Given the description of an element on the screen output the (x, y) to click on. 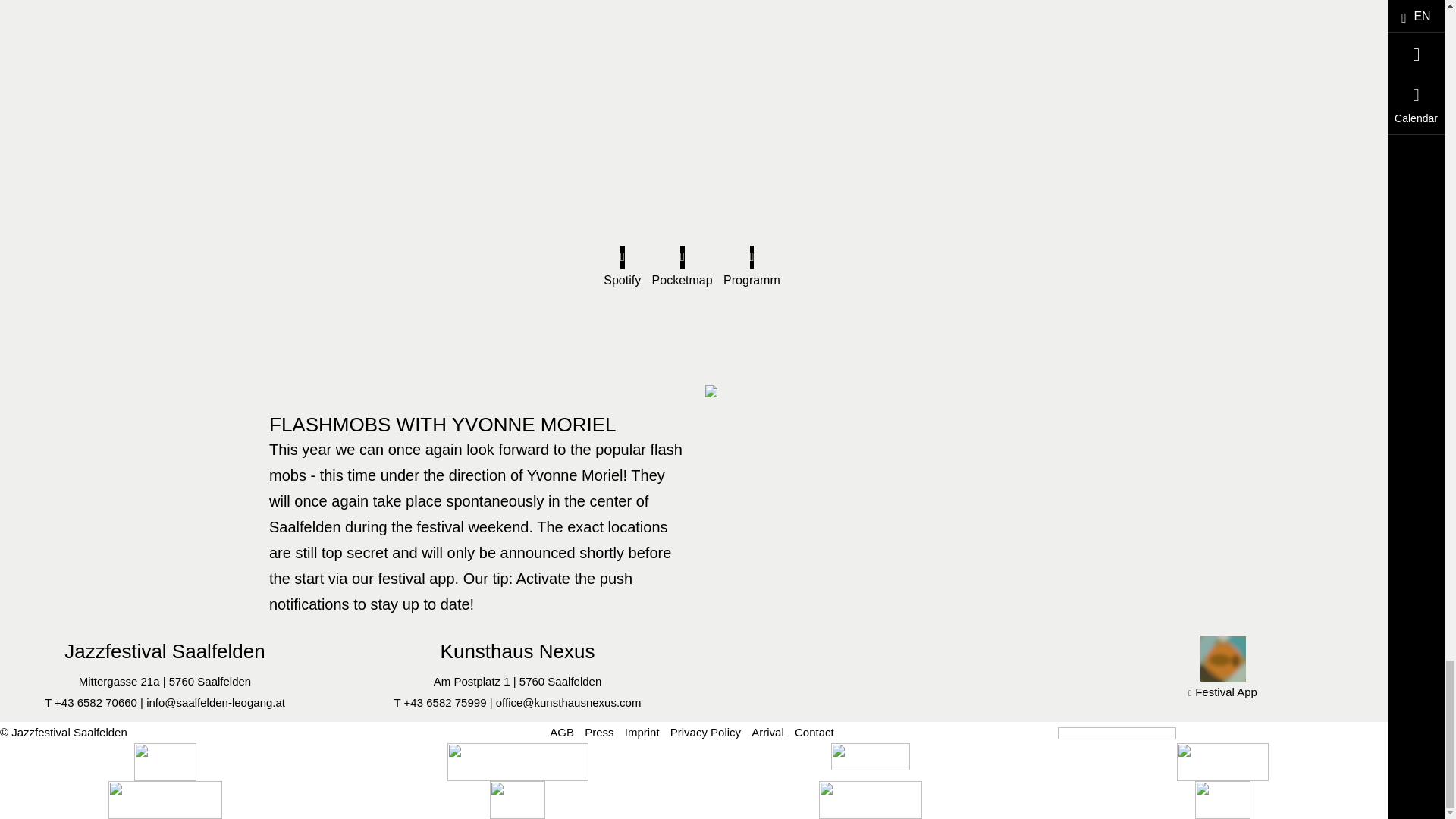
Spotify (622, 280)
